Given the description of an element on the screen output the (x, y) to click on. 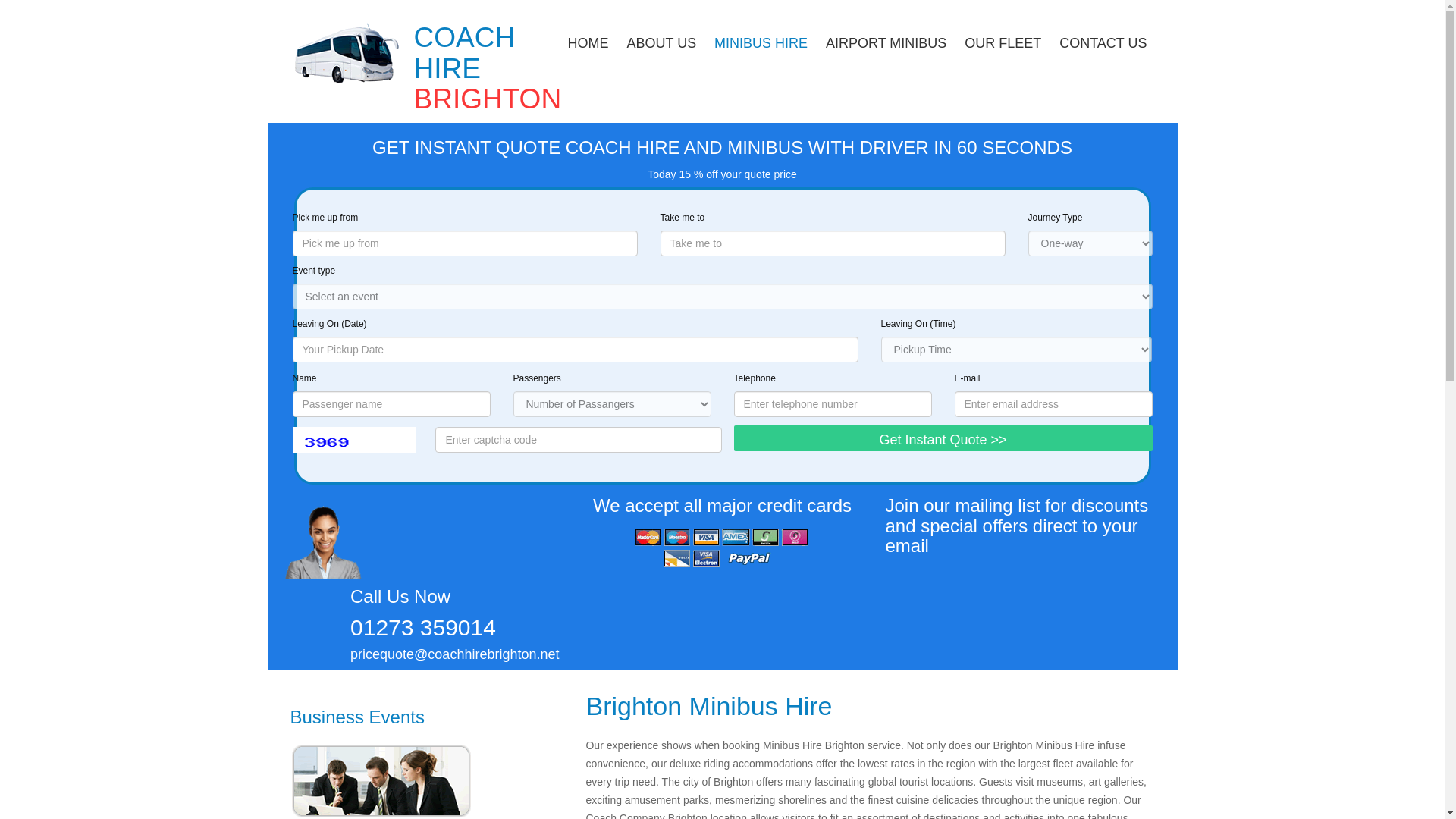
CONTACT US (1102, 39)
Coach Hire Brighton (345, 52)
MINIBUS HIRE (760, 39)
Select Numbers of Passangers (611, 403)
Pick Your Pickup Date (575, 349)
COACH HIRE BRIGHTON (487, 68)
AIRPORT MINIBUS (885, 39)
OUR FLEET (1002, 39)
Coach Hire Brighton (487, 68)
Enter Your Name (391, 403)
